Given the description of an element on the screen output the (x, y) to click on. 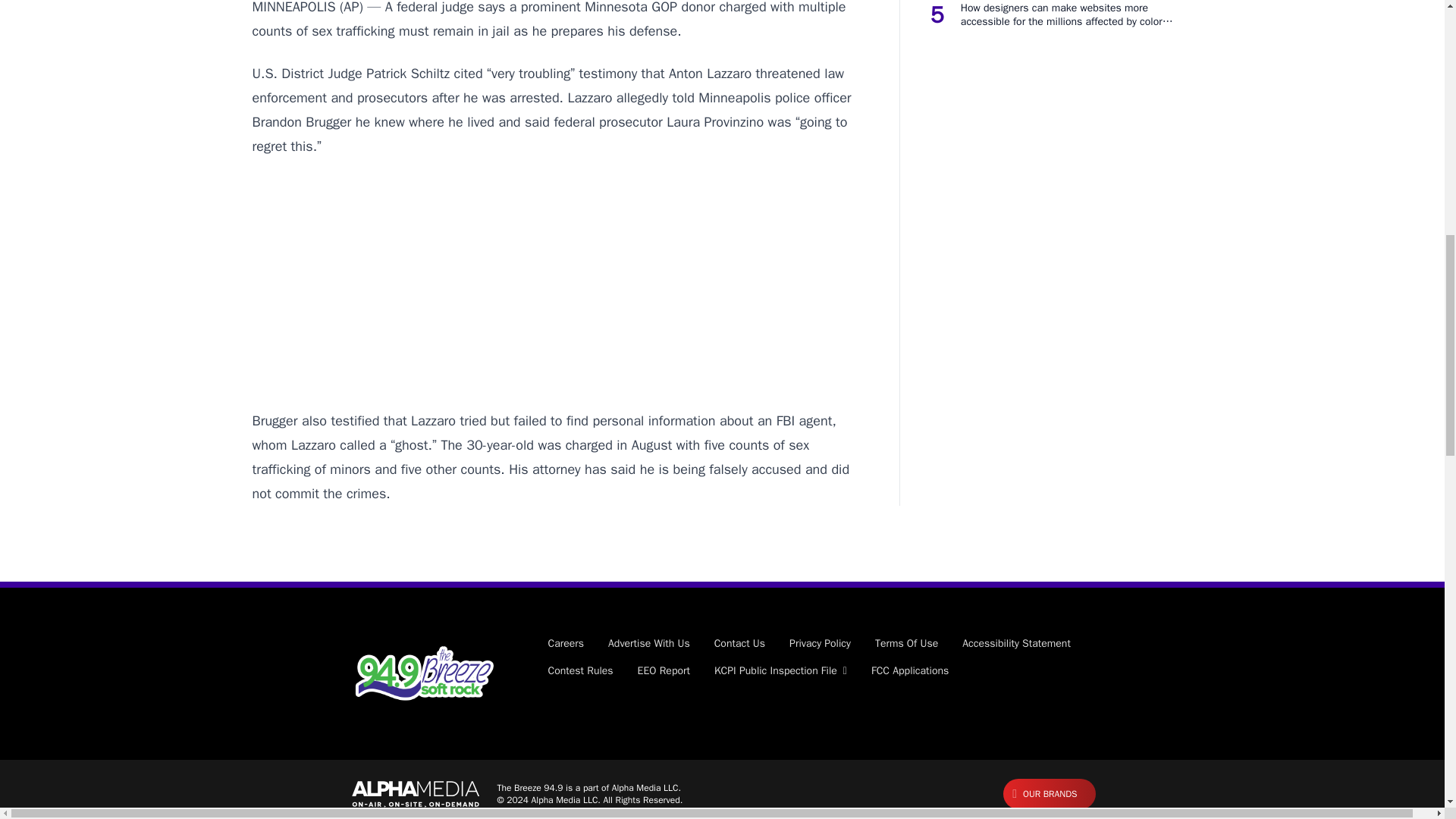
3rd party ad content (560, 283)
